Given the description of an element on the screen output the (x, y) to click on. 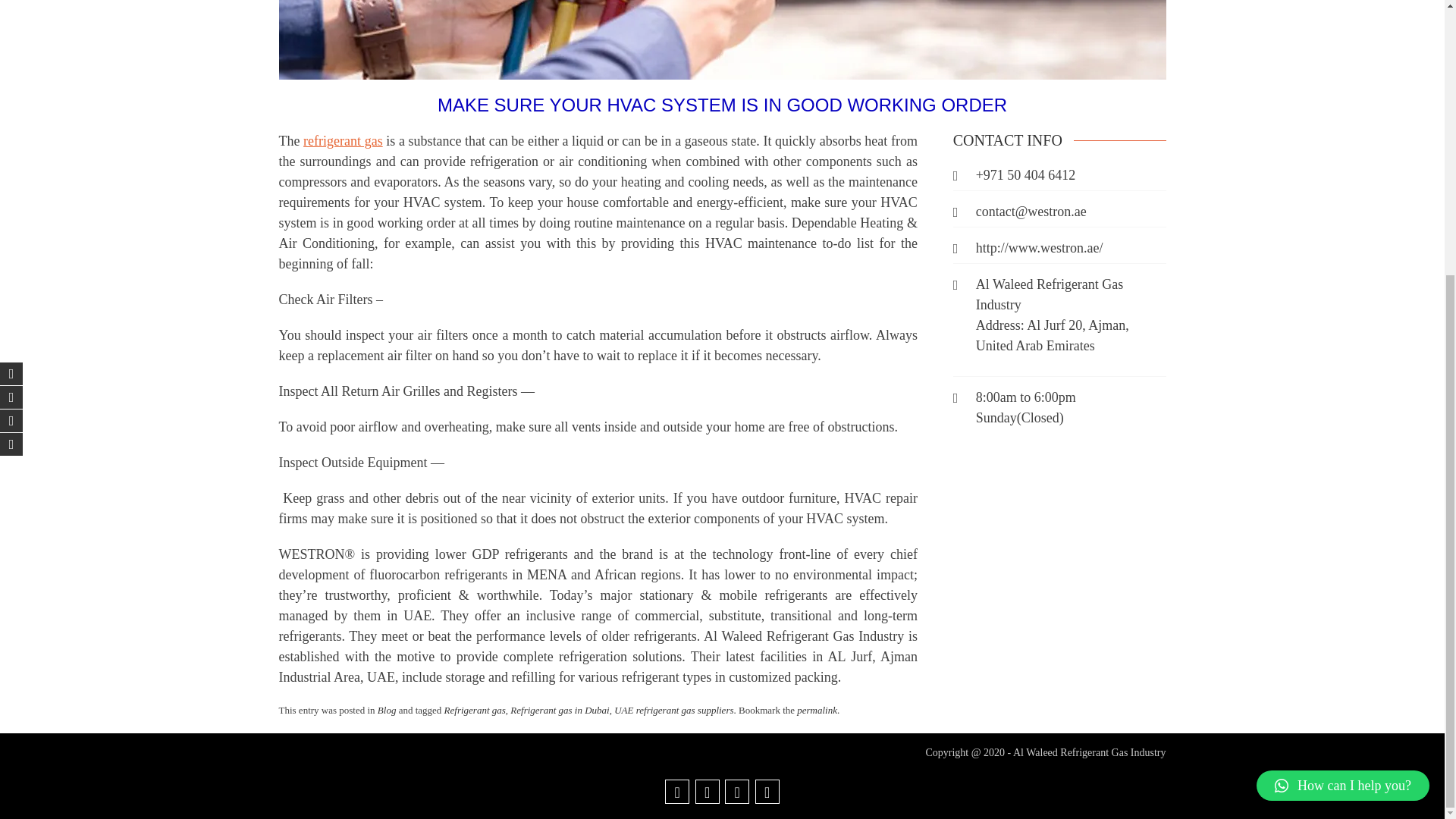
UAE refrigerant gas suppliers (673, 709)
Refrigerant gas in Dubai (559, 709)
permalink (816, 709)
refrigerant gas (342, 140)
Refrigerant gas (474, 709)
How can I help you? (1342, 379)
Blog (386, 709)
